Given the description of an element on the screen output the (x, y) to click on. 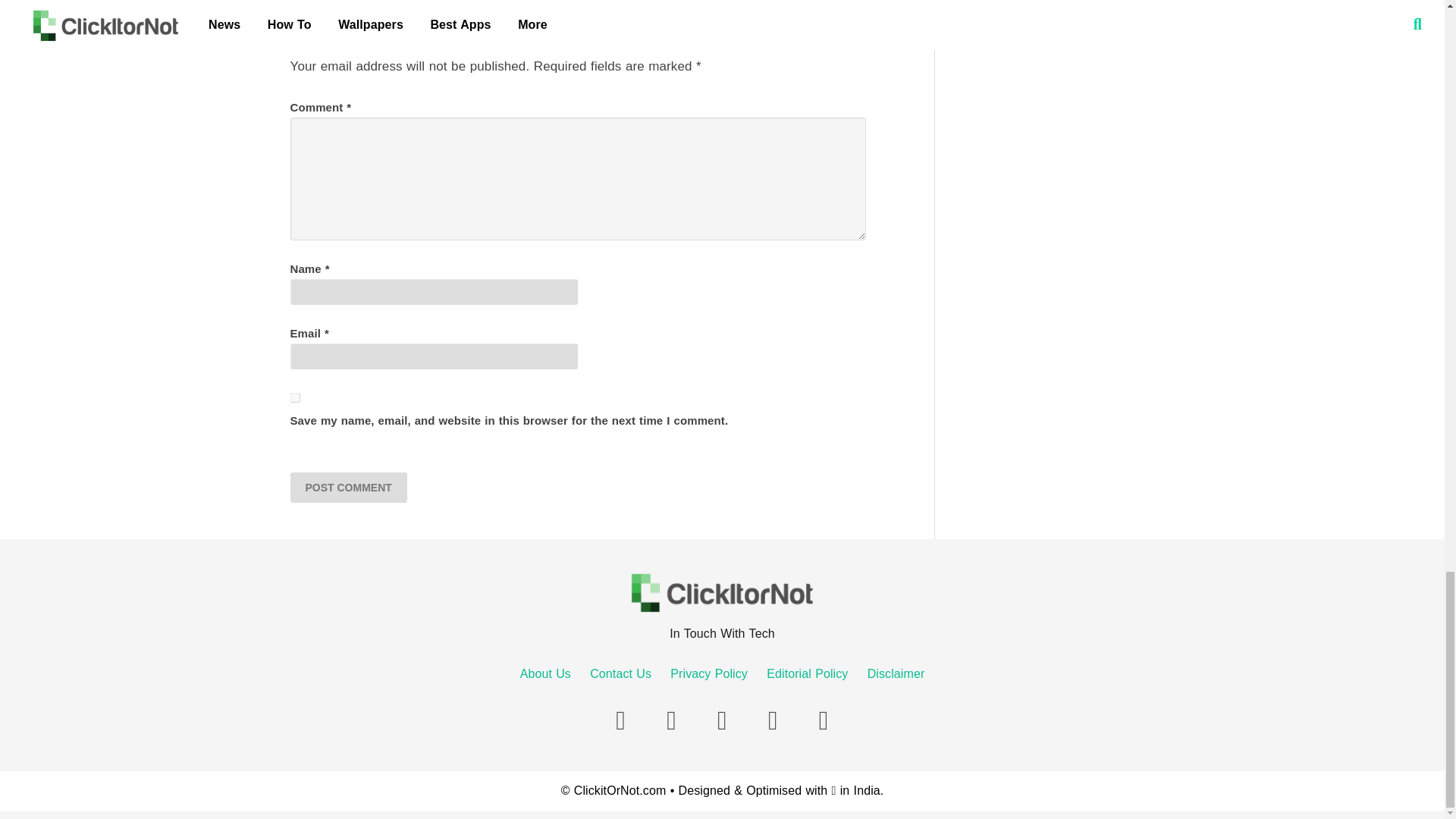
yes (294, 397)
Post Comment (347, 487)
Post Comment (347, 487)
